Given the description of an element on the screen output the (x, y) to click on. 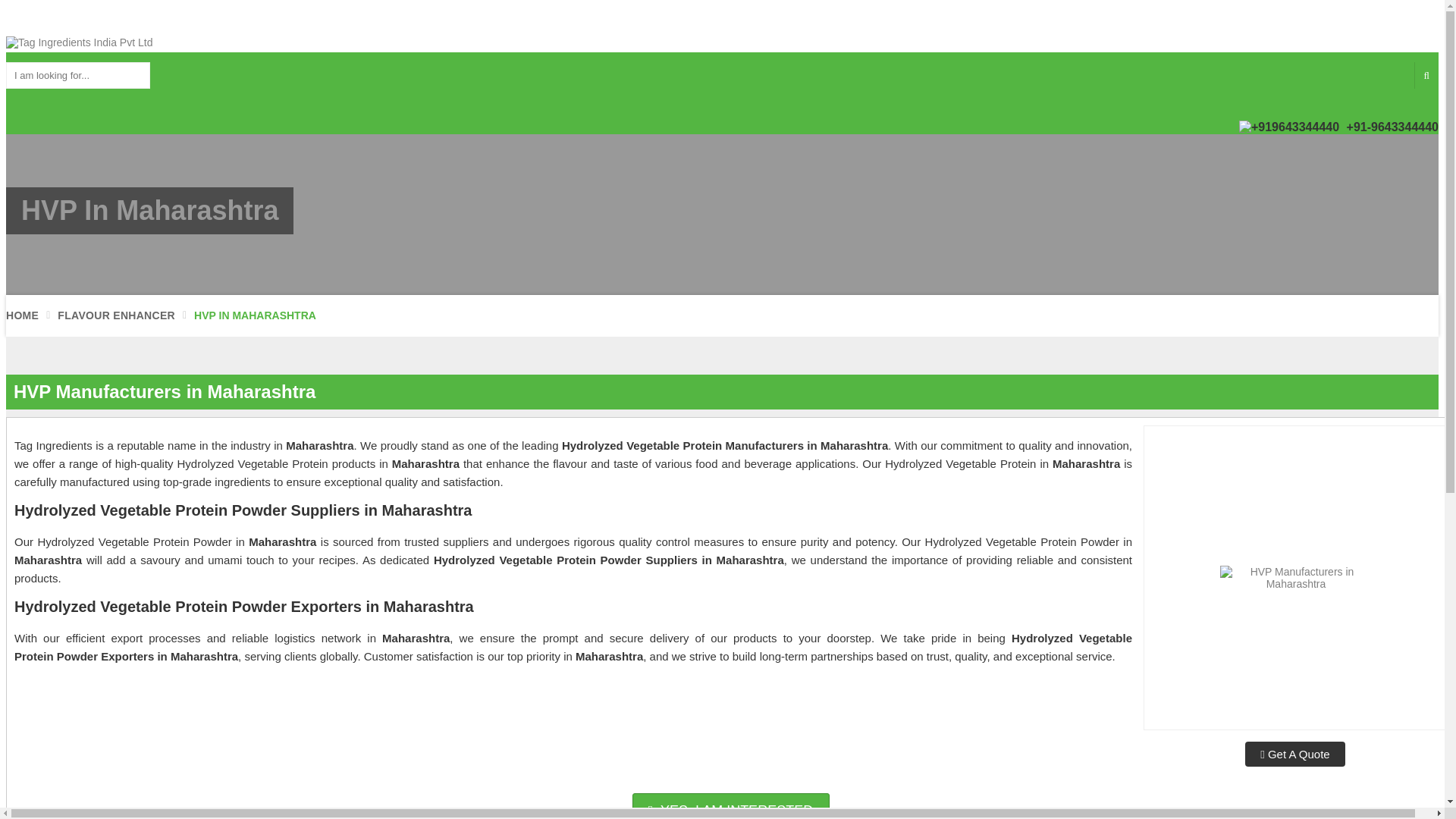
Ingredients (257, 20)
Artificial Sweeteners (173, 20)
FLAVOUR ENHANCER (116, 315)
YES, I AM INTERESTED (730, 806)
Wooden Cutlery (480, 20)
Ice Cream Sticks and Spoons (362, 20)
About Us (48, 20)
Ingredients (257, 20)
Additives (548, 20)
Spice Powder (703, 20)
About Us (48, 20)
Spice Powder (703, 20)
Industry (97, 20)
Home (13, 20)
Industry (97, 20)
